Given the description of an element on the screen output the (x, y) to click on. 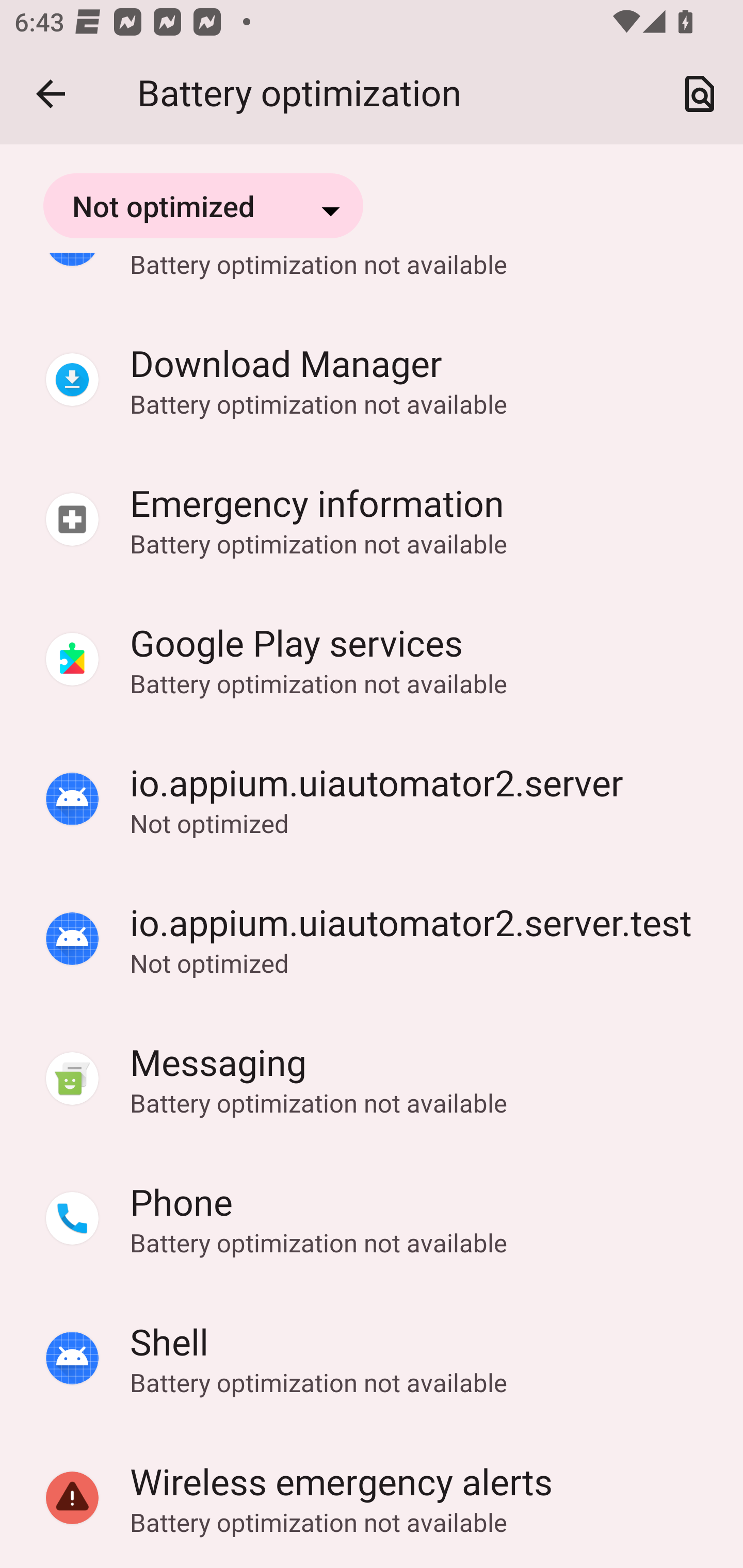
Navigate up (50, 93)
Search (699, 93)
Not optimized (203, 205)
Phone Phone Battery optimization not available (371, 1218)
Shell Shell Battery optimization not available (371, 1358)
